Given the description of an element on the screen output the (x, y) to click on. 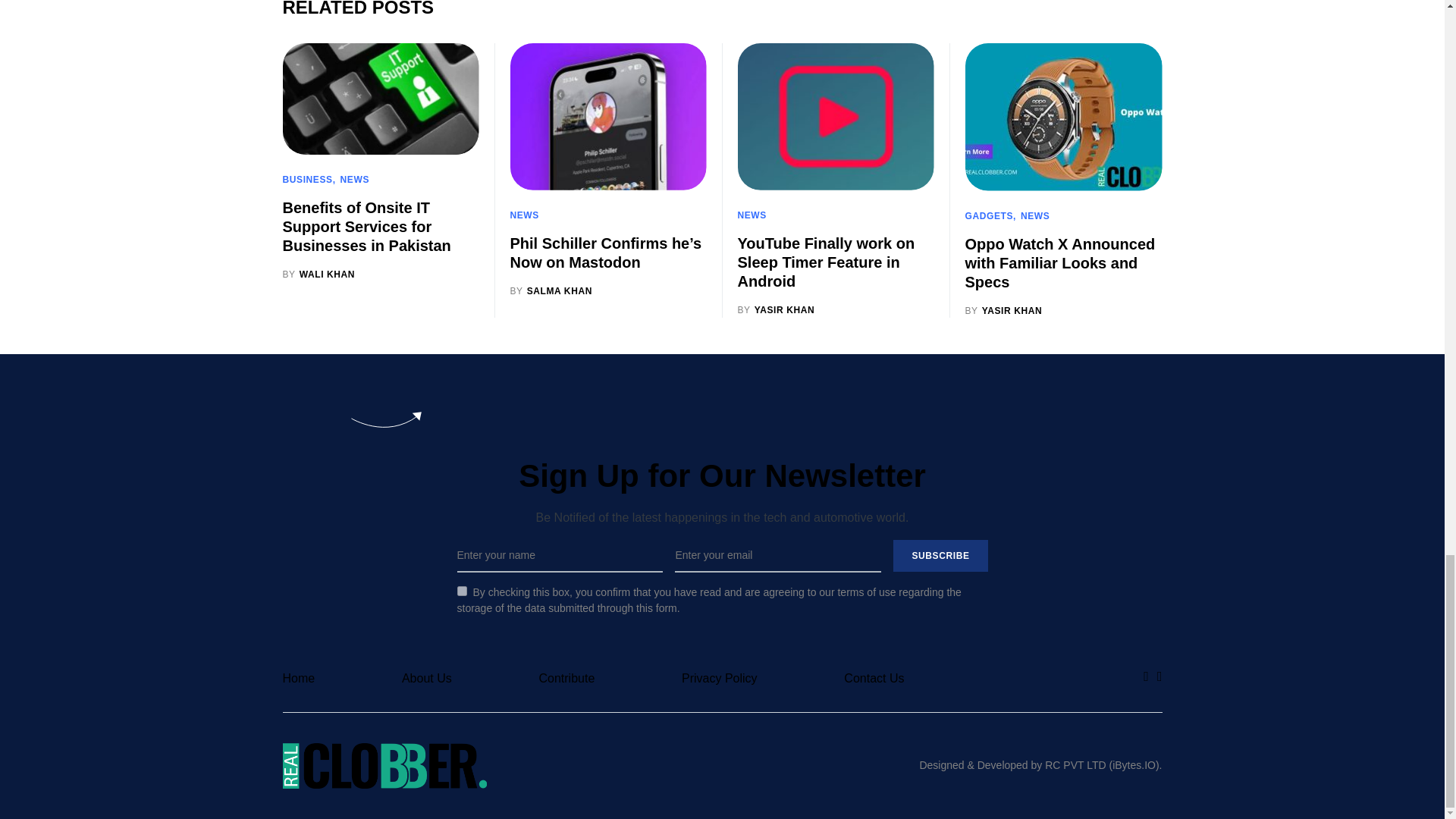
View all posts by Yasir Khan (1002, 309)
View all posts by Wali Khan (318, 274)
View all posts by Yasir Khan (774, 309)
on (461, 591)
View all posts by Salma Khan (550, 291)
